Given the description of an element on the screen output the (x, y) to click on. 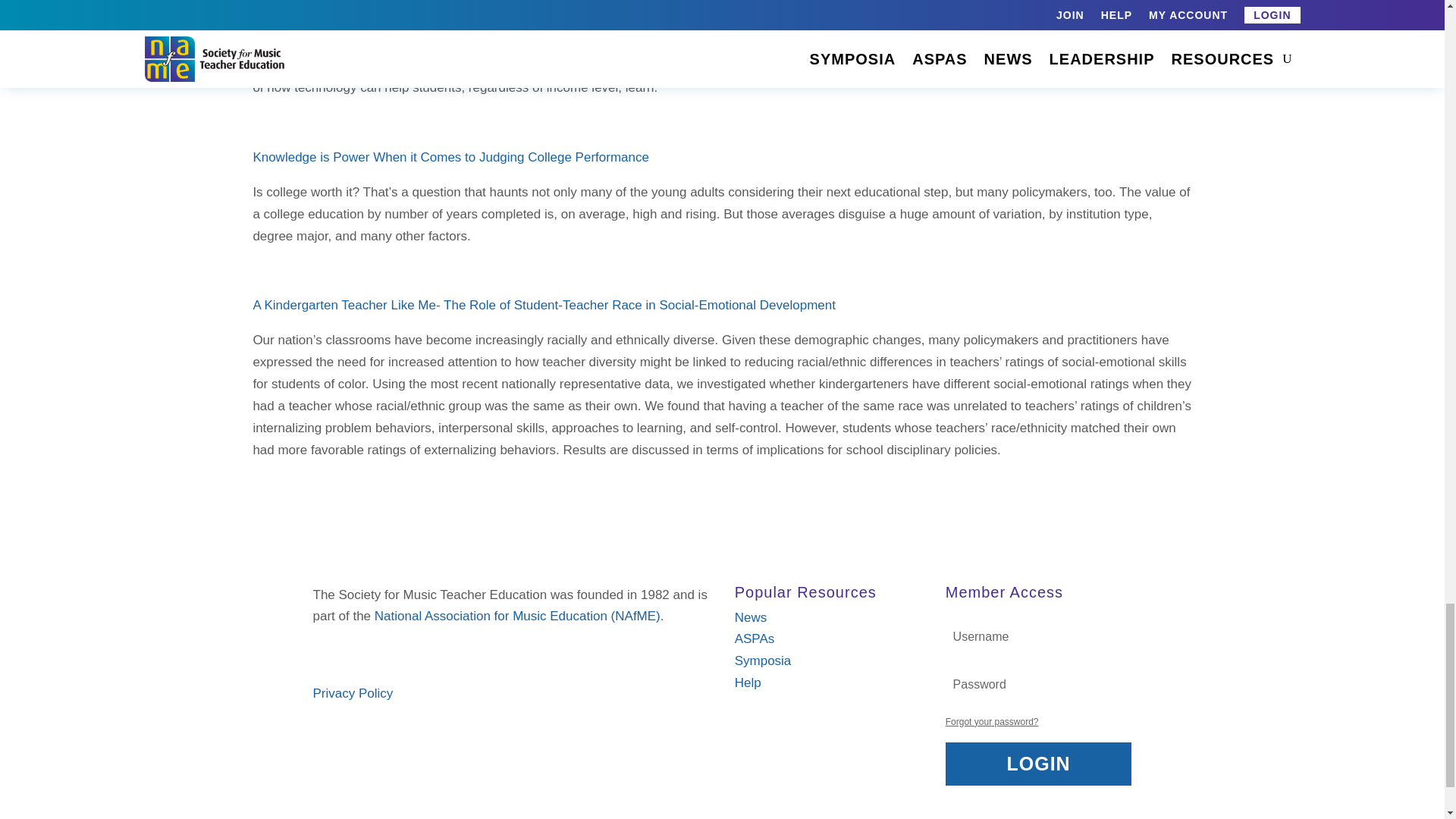
News (751, 617)
SMTE ASPAs (754, 638)
SMTE Symposia (763, 660)
Follow on Facebook (324, 652)
Privacy Policy (353, 693)
NAfME (517, 616)
SMTE News (751, 617)
Privacy Policy  (353, 693)
